Given the description of an element on the screen output the (x, y) to click on. 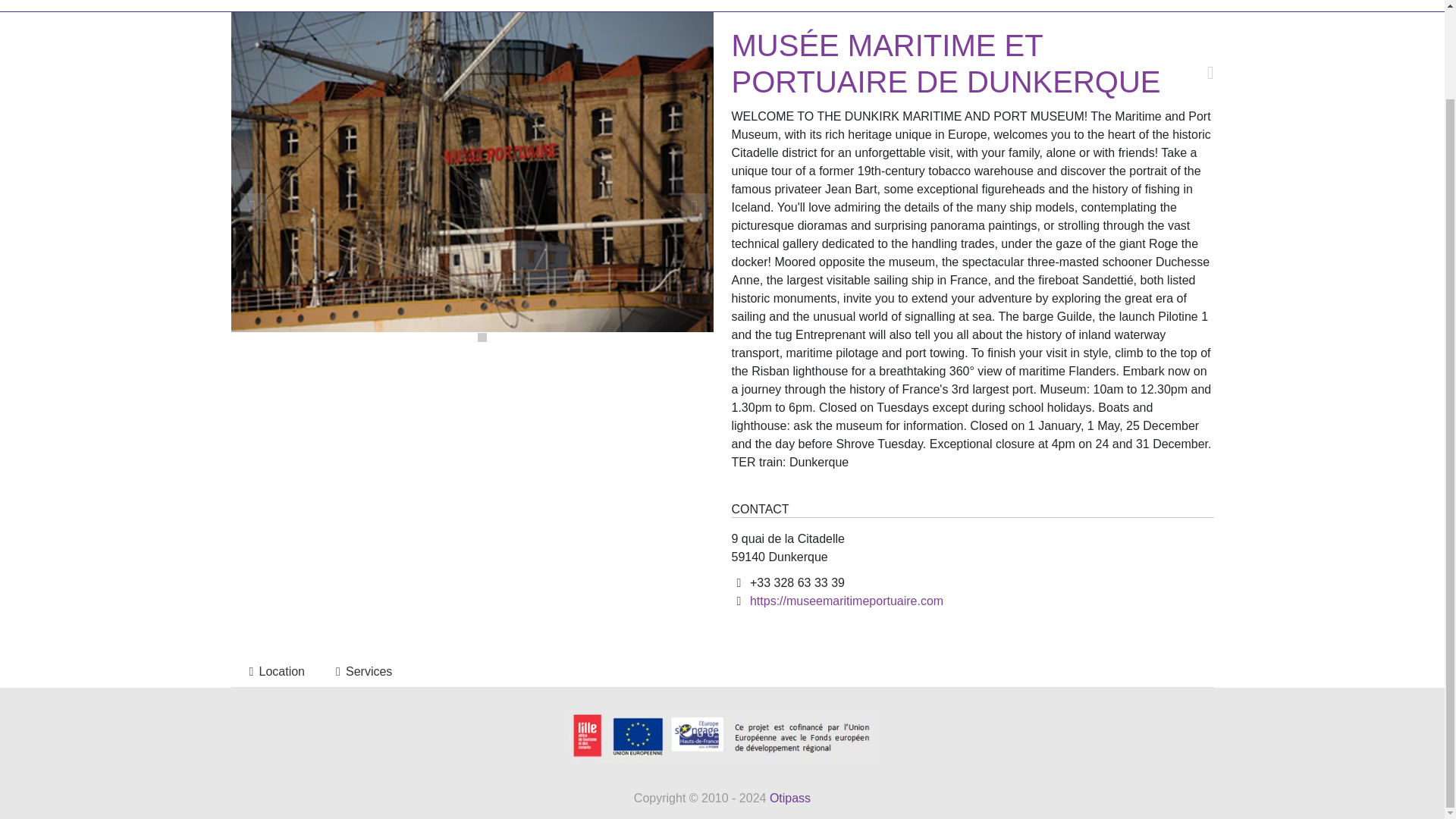
WHERE TO GET IT? (585, 4)
Location (273, 671)
THE CITY PASS (281, 4)
SITES INCLUDED IN THE PASS (427, 4)
CONTACT US (787, 4)
Otipass (790, 797)
MOBILE APPS (695, 4)
Services (360, 671)
